Given the description of an element on the screen output the (x, y) to click on. 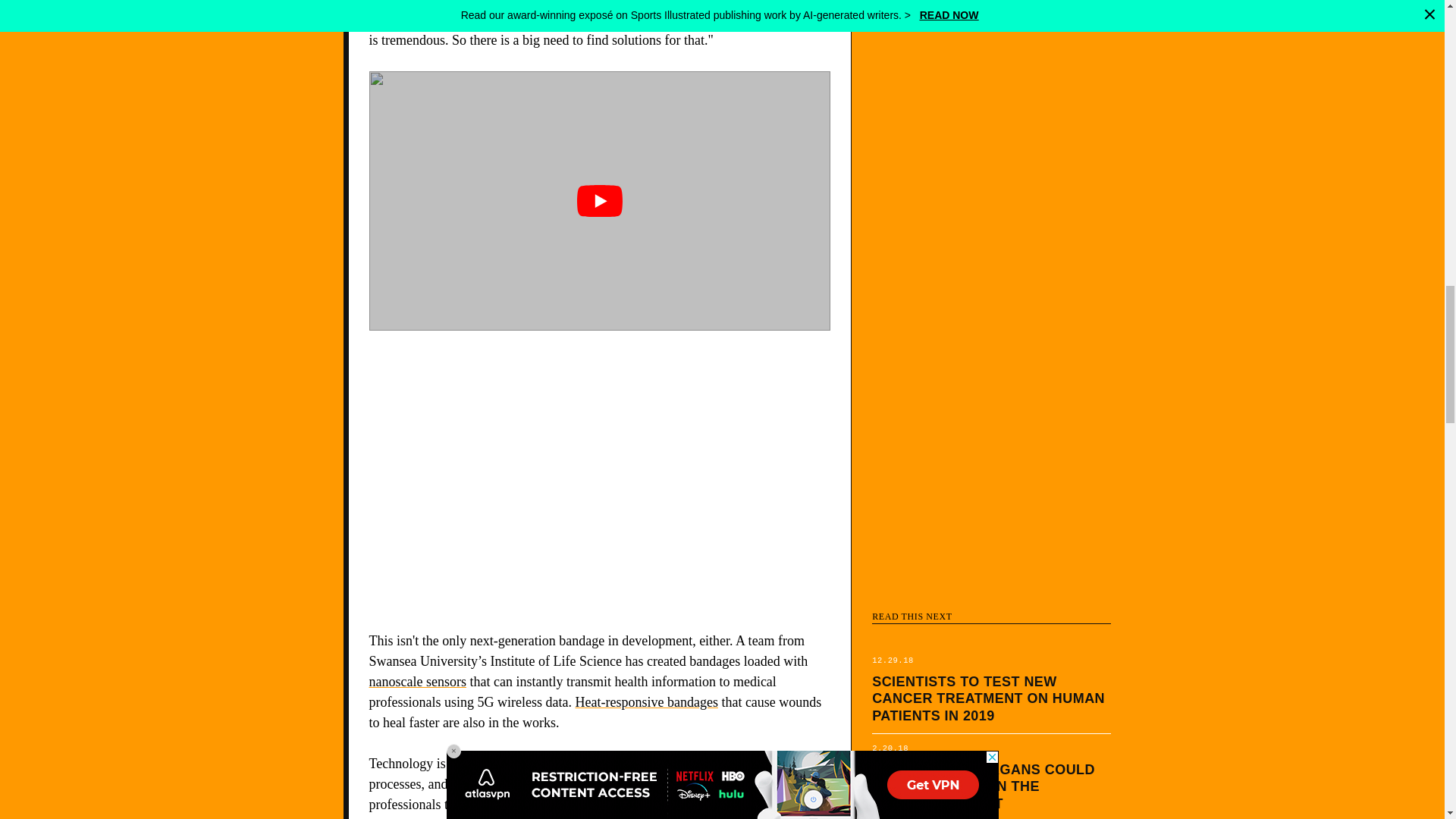
3rd party ad content (599, 480)
nanoscale sensors (416, 681)
Heat-responsive bandages (646, 702)
